Given the description of an element on the screen output the (x, y) to click on. 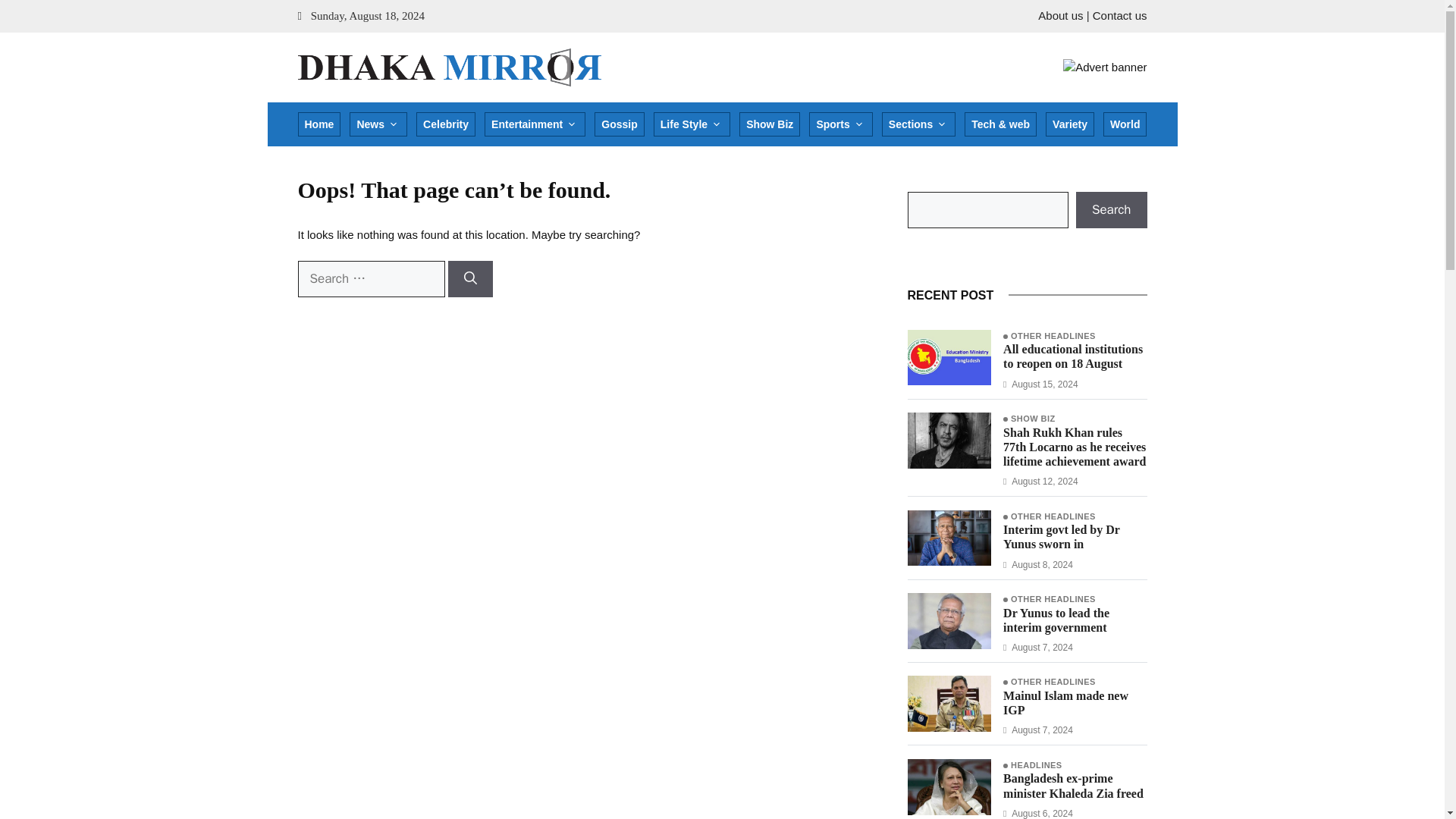
Show Biz (769, 124)
Sports (840, 124)
Gossip (618, 124)
Contact us (1120, 15)
Entertainment (534, 124)
Celebrity (446, 124)
About us (1060, 15)
News (378, 124)
Life Style (691, 124)
Home (318, 124)
